Given the description of an element on the screen output the (x, y) to click on. 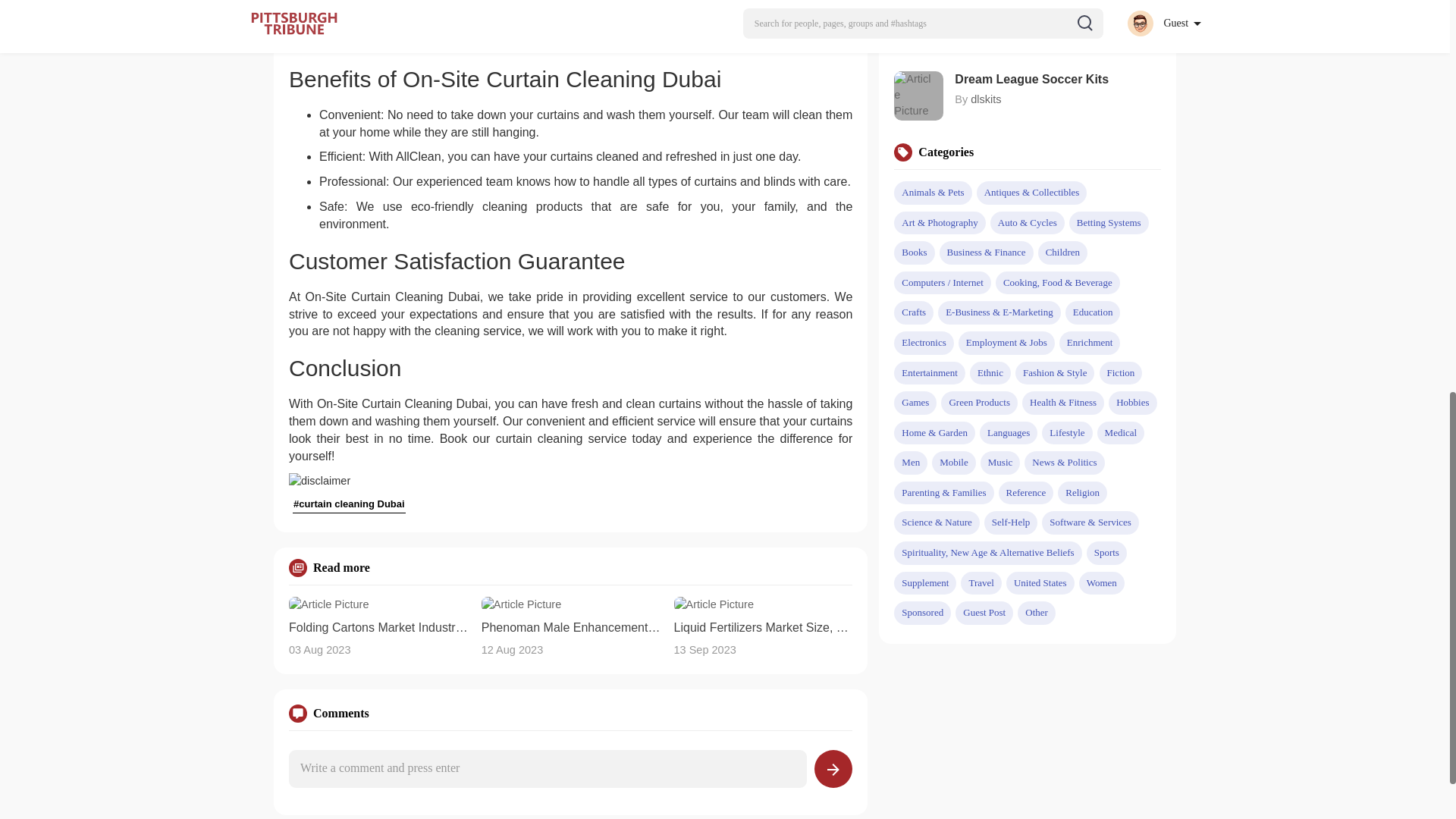
Post (832, 768)
dlskits (986, 99)
justquikr (991, 40)
Dream League Soccer Kits (1057, 79)
